Given the description of an element on the screen output the (x, y) to click on. 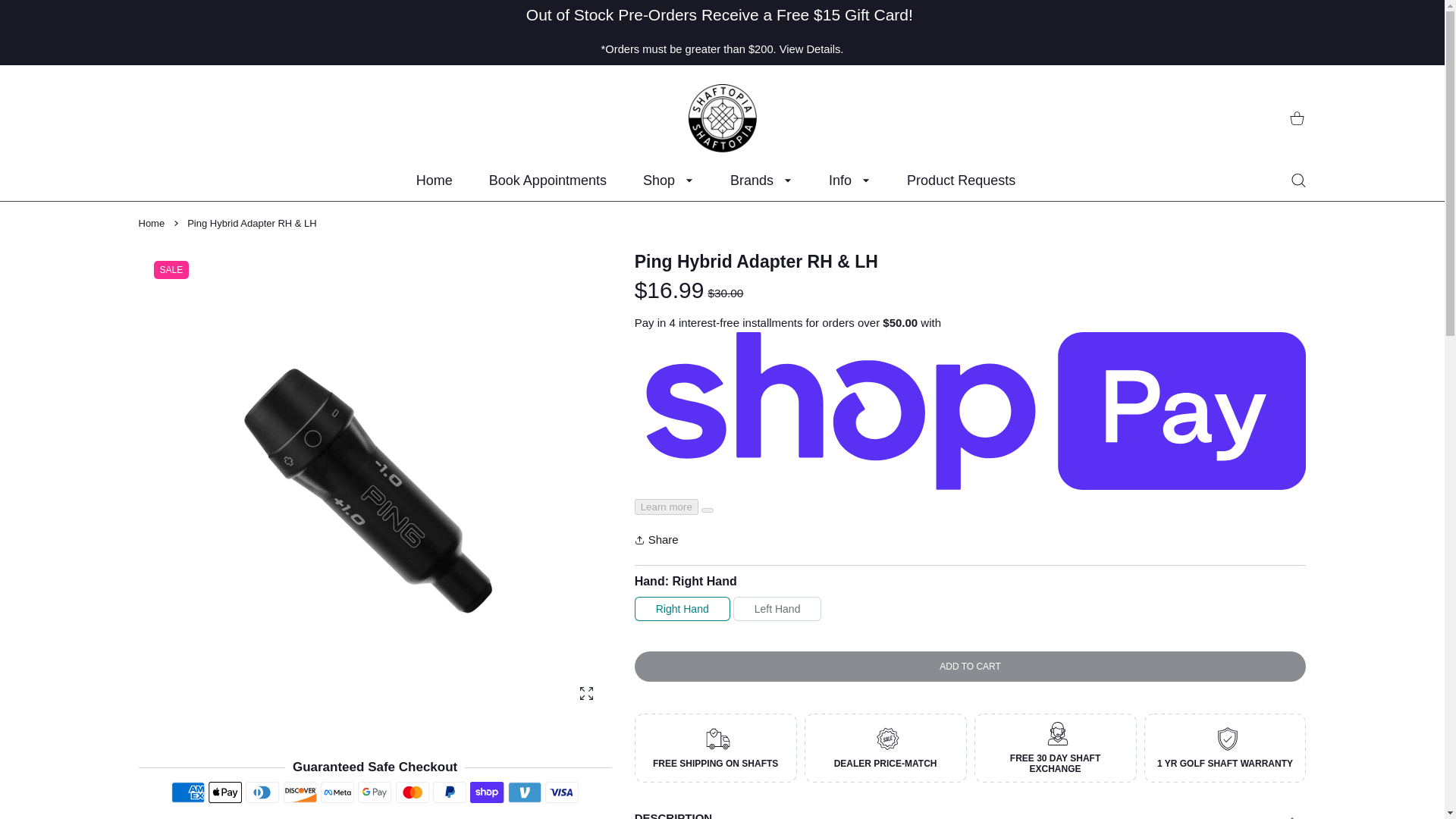
Book Appointments (547, 180)
Shop (668, 180)
Apple Pay (224, 792)
Discover (300, 792)
Product Requests (960, 180)
Brands (761, 180)
Venmo (524, 792)
PayPal (448, 792)
Shopping Cart (1296, 117)
Home (433, 180)
American Express (188, 792)
Google Pay (374, 792)
Info (849, 180)
Visa (561, 792)
